Given the description of an element on the screen output the (x, y) to click on. 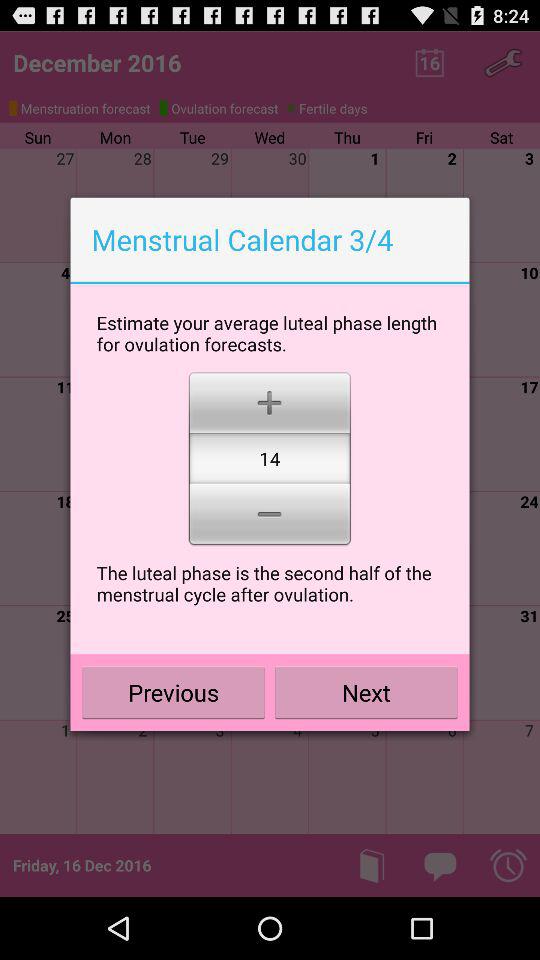
go down one number (269, 515)
